Given the description of an element on the screen output the (x, y) to click on. 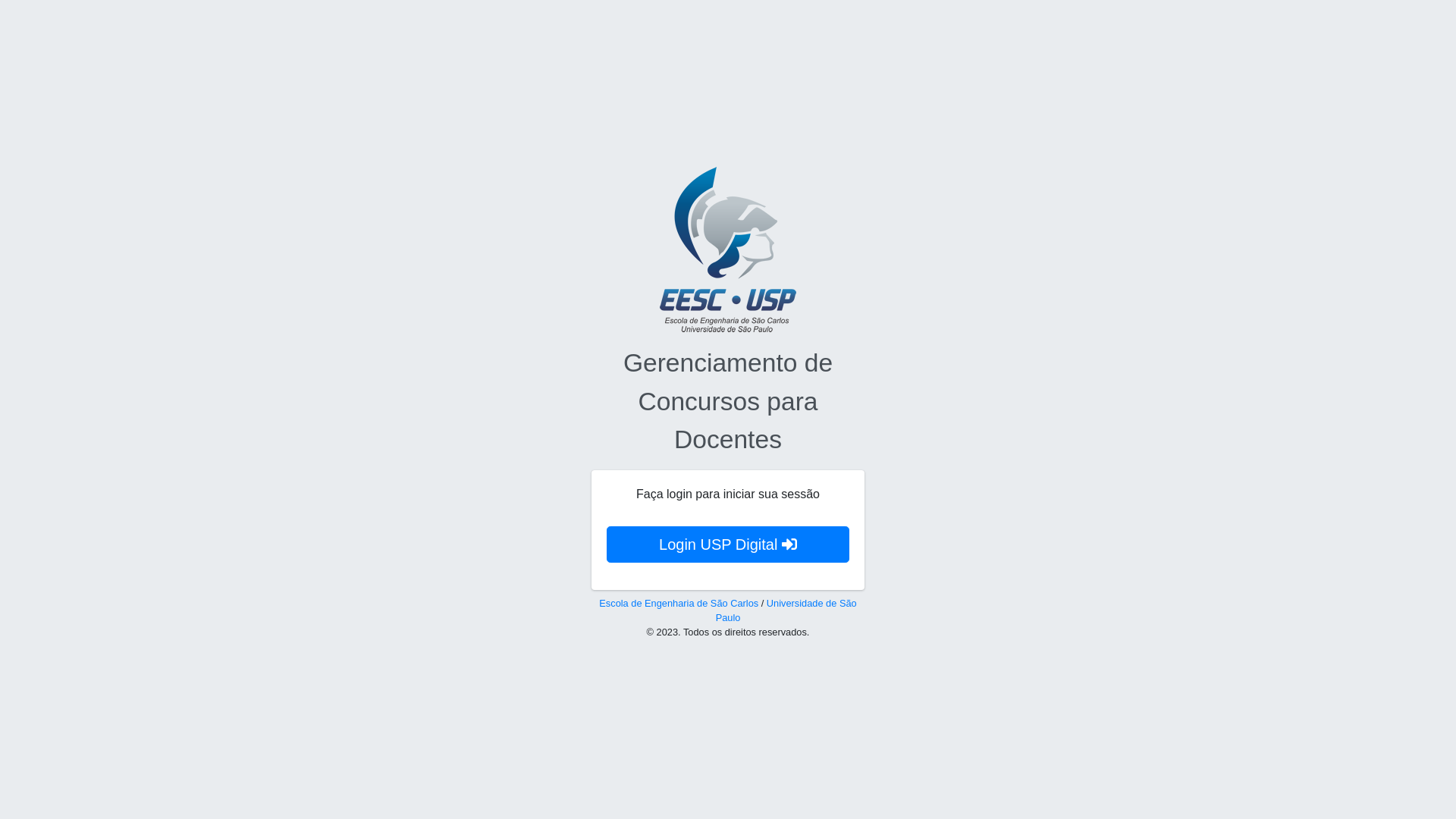
Login USP Digital Element type: text (727, 544)
Gerenciamento de Concursos para Docentes Element type: text (727, 400)
